Given the description of an element on the screen output the (x, y) to click on. 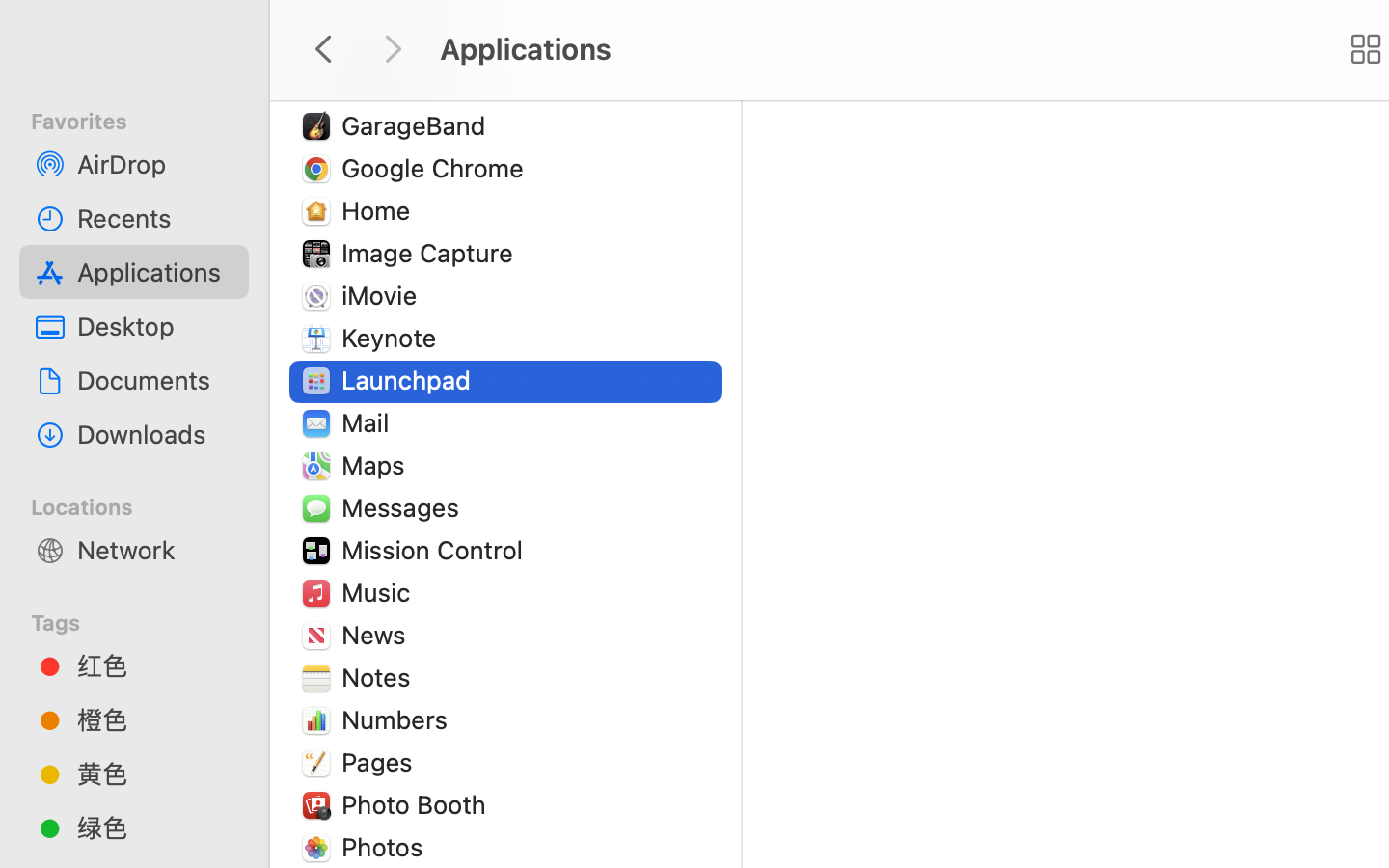
Tags Element type: AXStaticText (145, 619)
Image Capture Element type: AXTextField (430, 252)
Music Element type: AXTextField (379, 591)
Locations Element type: AXStaticText (145, 504)
Launchpad Element type: AXTextField (410, 379)
